Given the description of an element on the screen output the (x, y) to click on. 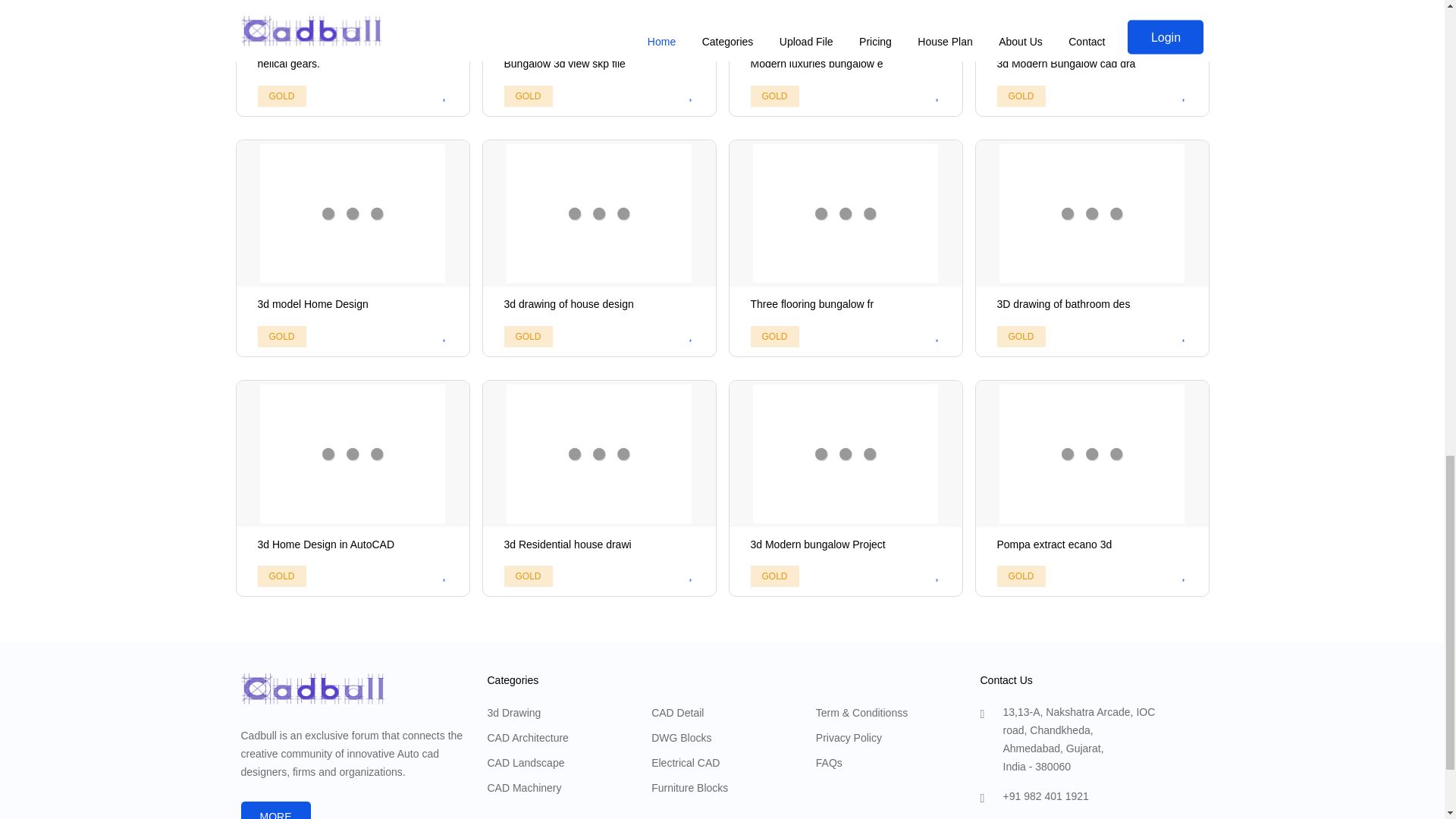
GOLD (351, 248)
GOLD (845, 58)
GOLD (351, 58)
GOLD (775, 96)
GOLD (598, 58)
